Given the description of an element on the screen output the (x, y) to click on. 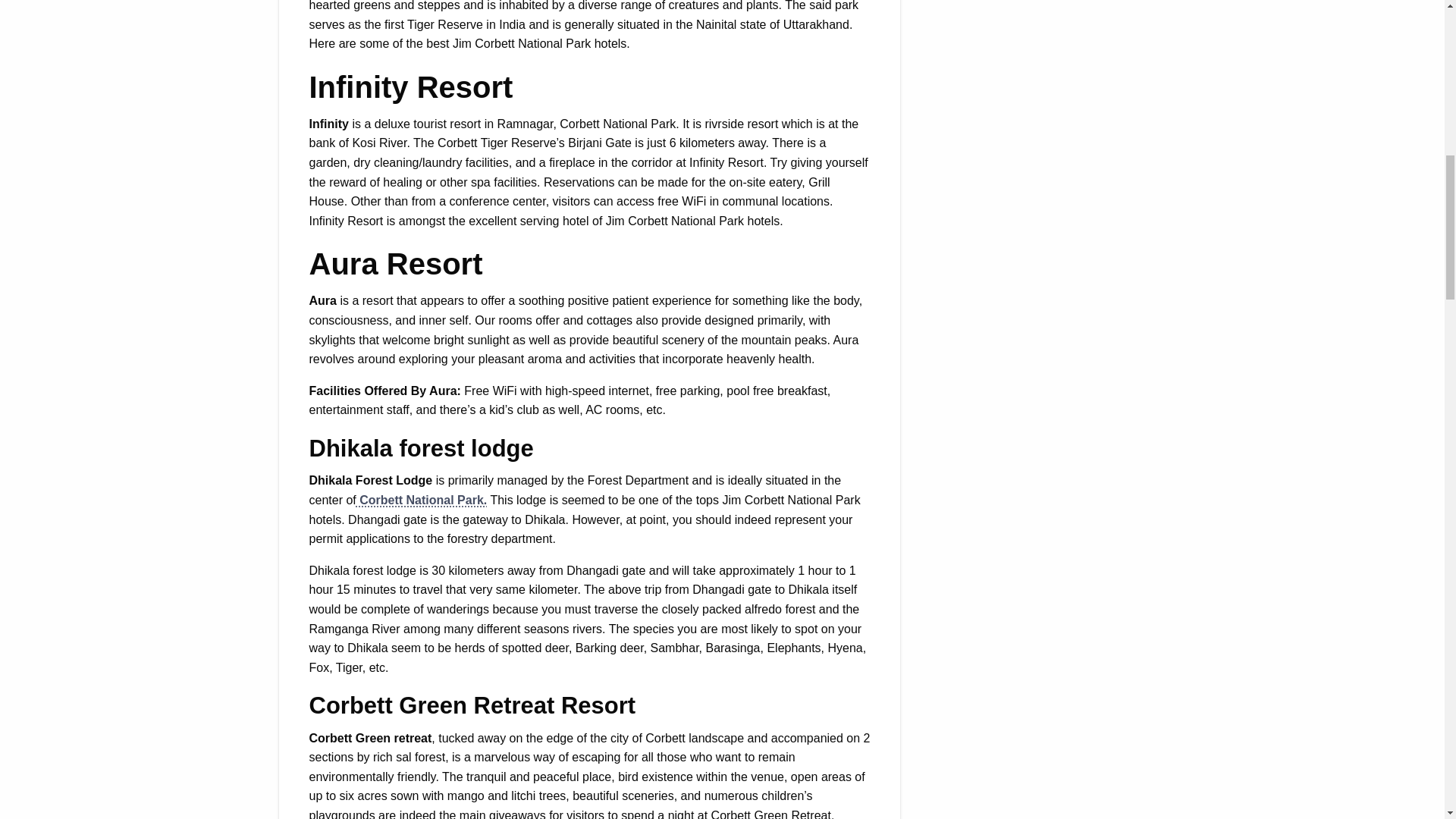
Corbett National Park. (421, 499)
